Given the description of an element on the screen output the (x, y) to click on. 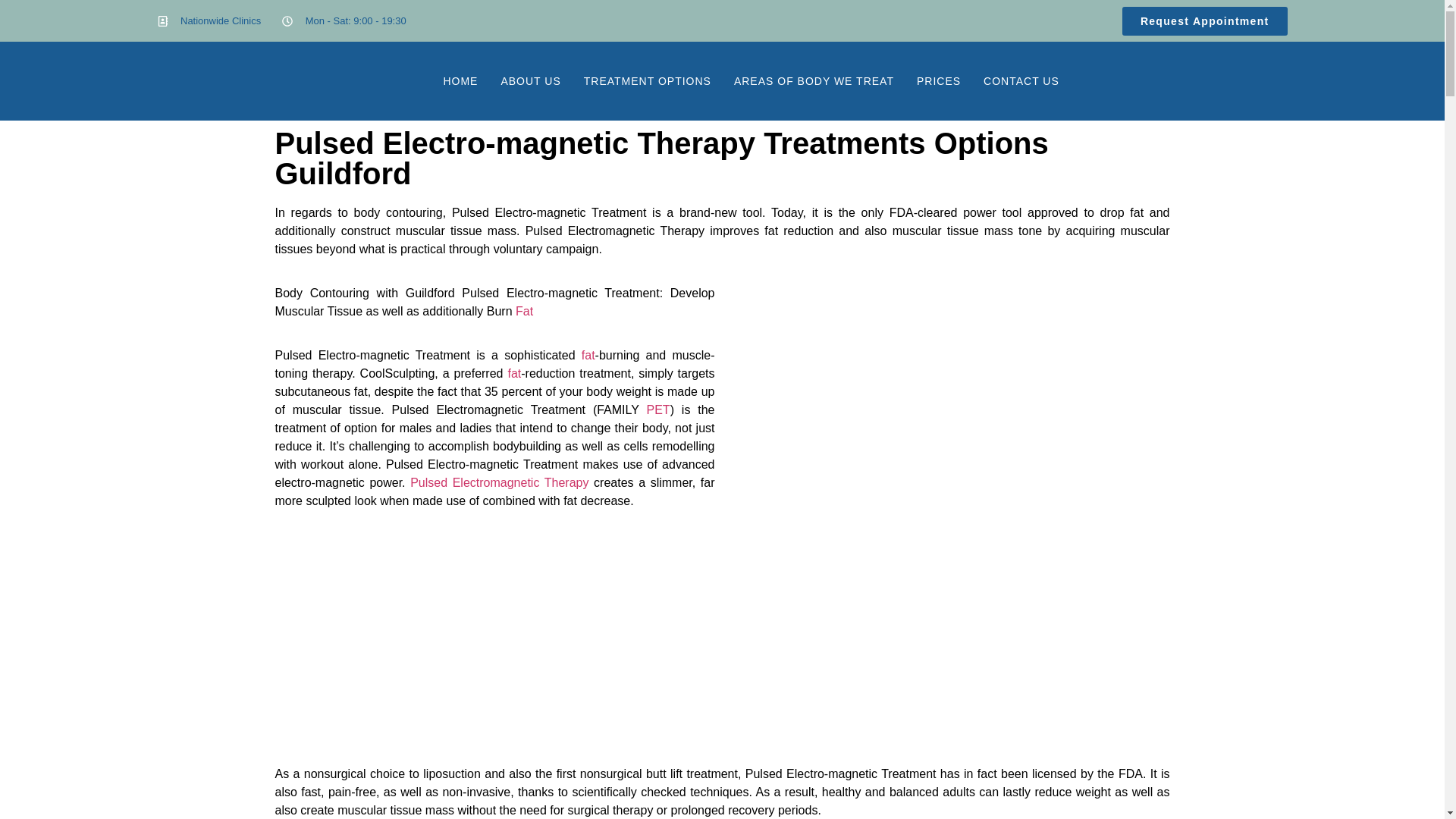
AREAS OF BODY WE TREAT (813, 80)
Mon - Sat: 9:00 - 19:30 (344, 20)
fat (513, 373)
CONTACT US (1021, 80)
Request Appointment (1204, 20)
PRICES (938, 80)
fat (587, 354)
HOME (459, 80)
Nationwide Clinics (209, 20)
PET (657, 409)
Pulsed Electromagnetic Therapy (499, 481)
ABOUT US (530, 80)
Fat (523, 310)
TREATMENT OPTIONS (647, 80)
